Given the description of an element on the screen output the (x, y) to click on. 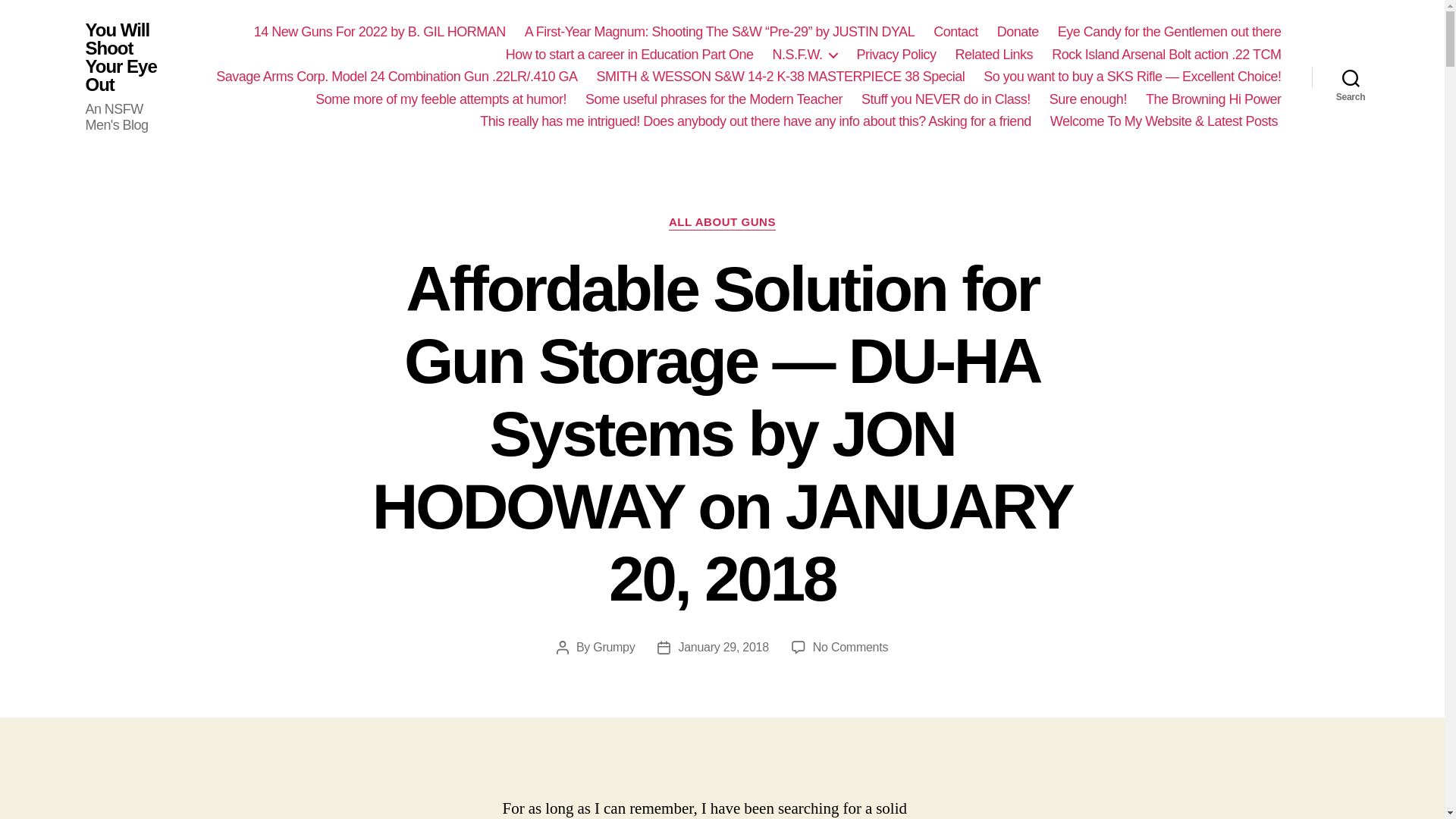
You Will Shoot Your Eye Out (128, 57)
How to start a career in Education Part One (629, 54)
Contact (955, 32)
14 New Guns For 2022 by B. GIL HORMAN (379, 32)
Some useful phrases for the Modern Teacher (714, 99)
Eye Candy for the Gentlemen out there (1169, 32)
Related Links (994, 54)
Stuff you NEVER do in Class! (945, 99)
N.S.F.W. (804, 54)
